Given the description of an element on the screen output the (x, y) to click on. 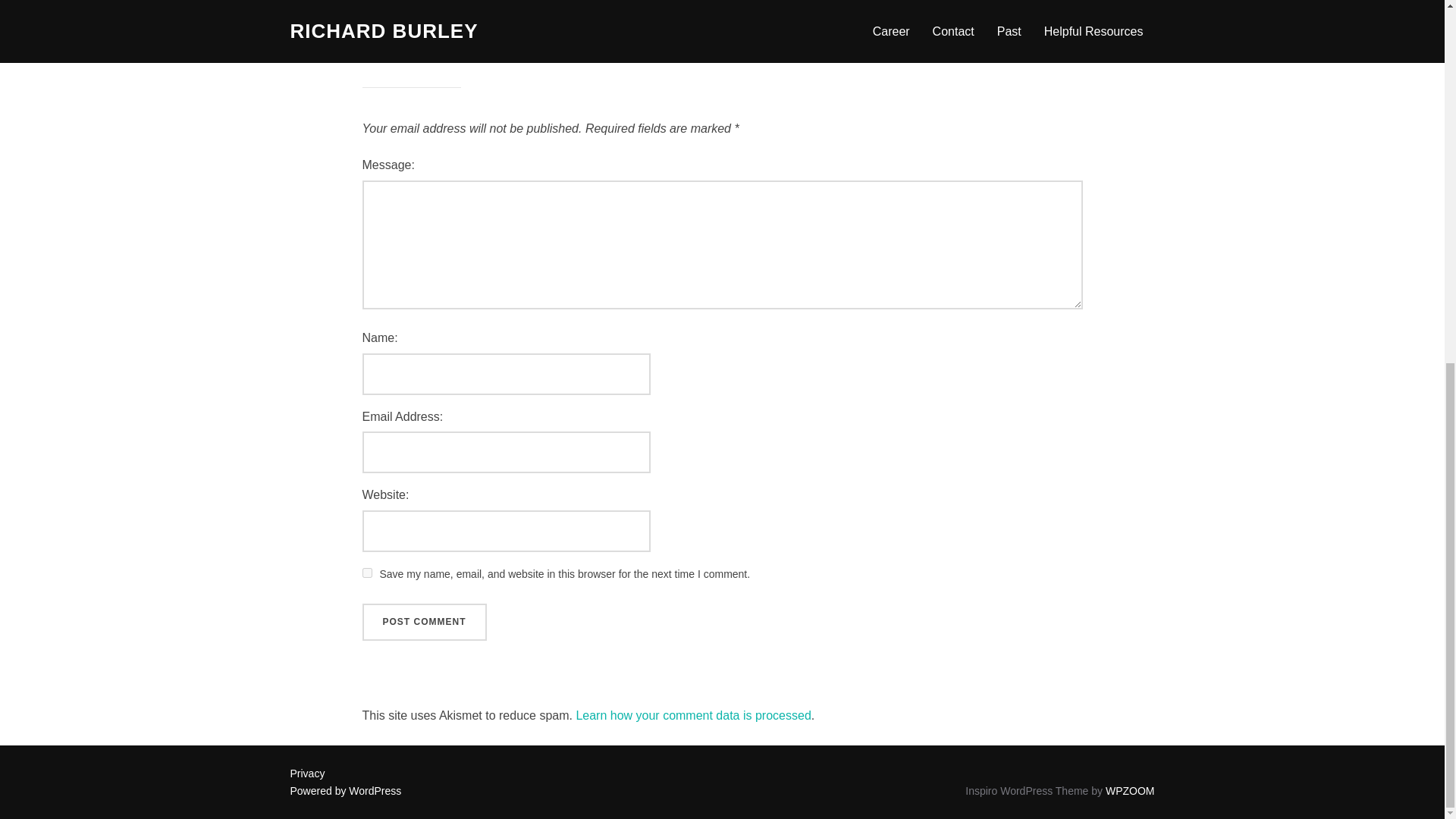
Post Comment (424, 622)
Privacy (306, 773)
yes (367, 573)
WPZOOM (1129, 790)
Post Comment (424, 622)
Learn how your comment data is processed (692, 715)
Powered by WordPress (345, 790)
